Given the description of an element on the screen output the (x, y) to click on. 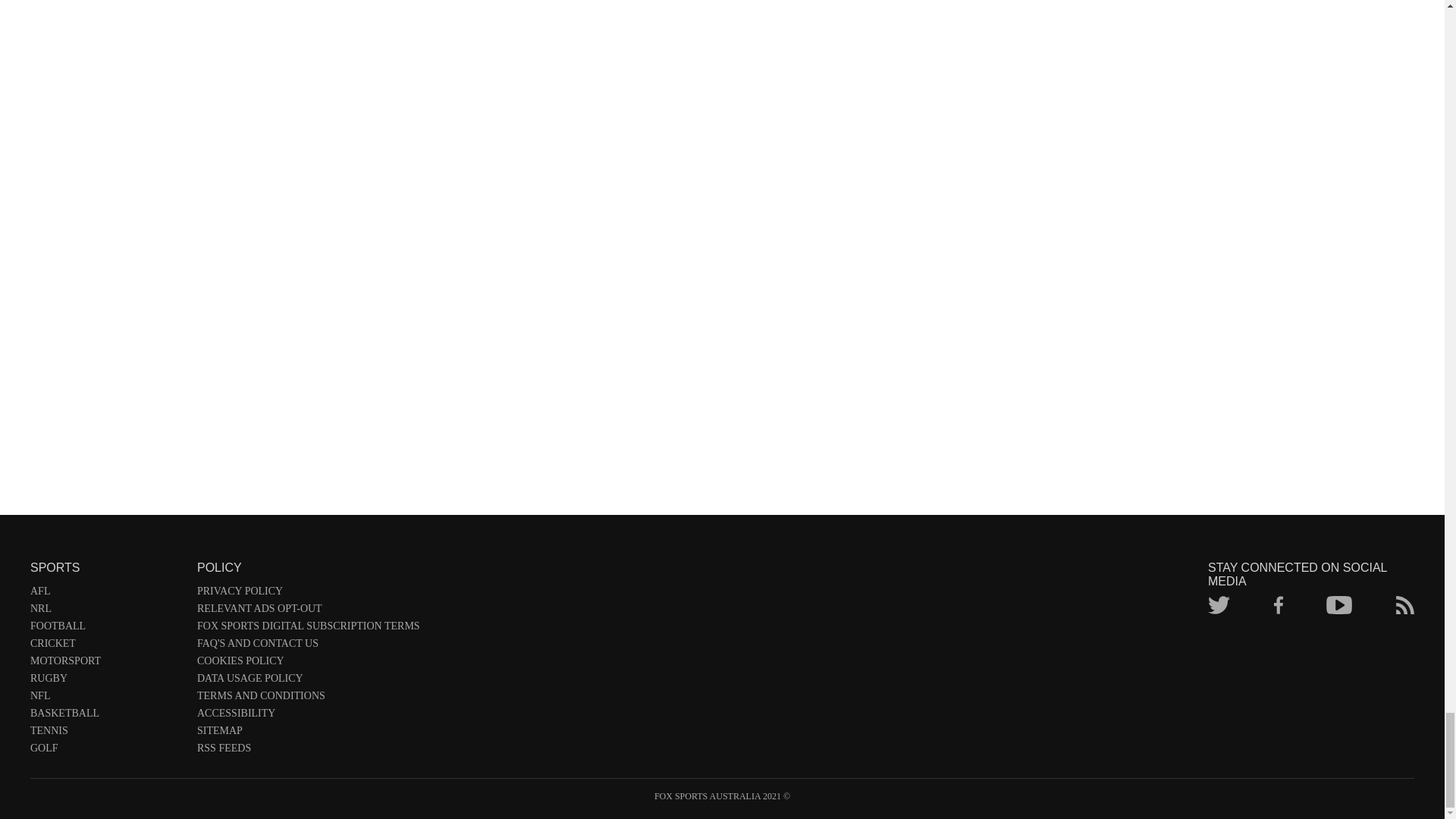
FOX SPORTS DIGITAL SUBSCRIPTION TERMS (308, 628)
FOOTBALL (106, 628)
NRL (106, 610)
AFL (106, 593)
RUGBY (106, 681)
RSS FEEDS (308, 751)
FAQ'S AND CONTACT US (308, 646)
SITEMAP (308, 733)
NFL (106, 698)
ACCESSIBILITY (308, 715)
COOKIES POLICY (308, 663)
MOTORSPORT (106, 663)
DATA USAGE POLICY (308, 681)
PRIVACY POLICY (308, 593)
TENNIS (106, 733)
